Given the description of an element on the screen output the (x, y) to click on. 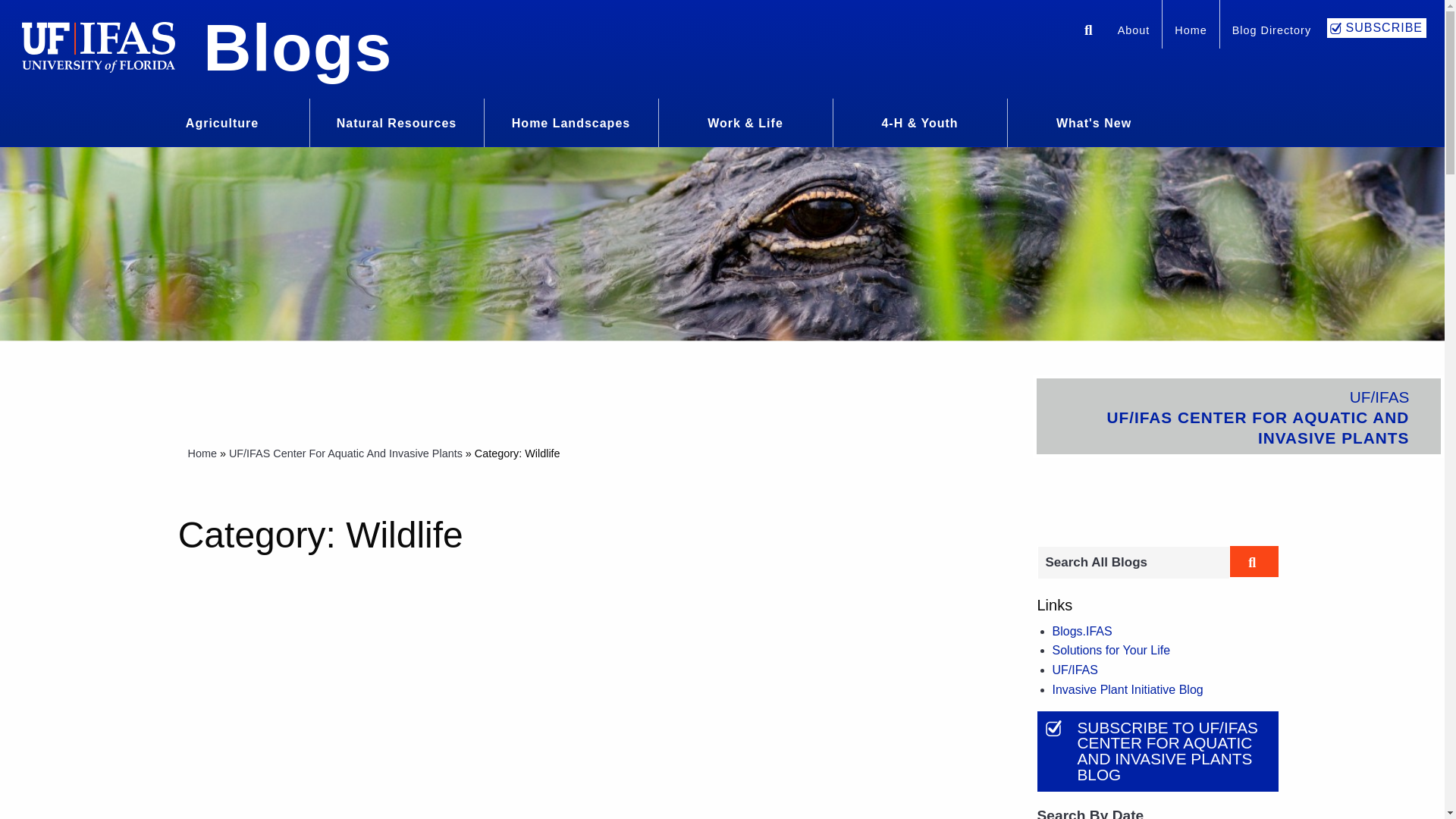
SUBSCRIBE (1376, 27)
Blog Directory (1271, 32)
Natural Resources (396, 121)
Agriculture (221, 121)
Home (1189, 32)
Search All Blogs (1133, 562)
Home Landscapes (571, 121)
Blogs (297, 47)
About (1133, 32)
